Given the description of an element on the screen output the (x, y) to click on. 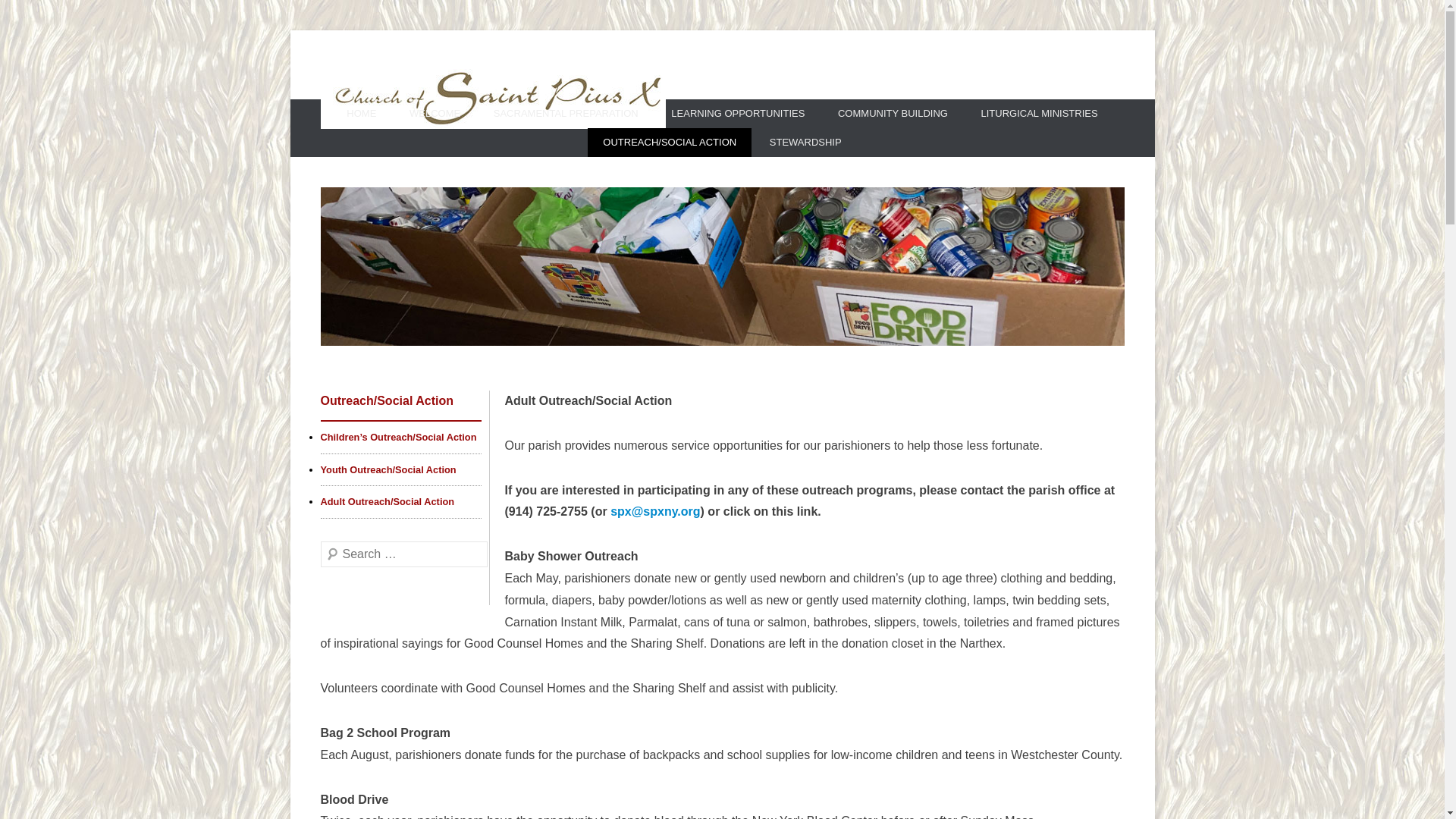
COMMUNITY BUILDING (892, 113)
WELCOME (435, 113)
Church of Saint Pius X (524, 155)
LEARNING OPPORTUNITIES (737, 113)
HOME (361, 113)
SACRAMENTAL PREPARATION (566, 113)
